Given the description of an element on the screen output the (x, y) to click on. 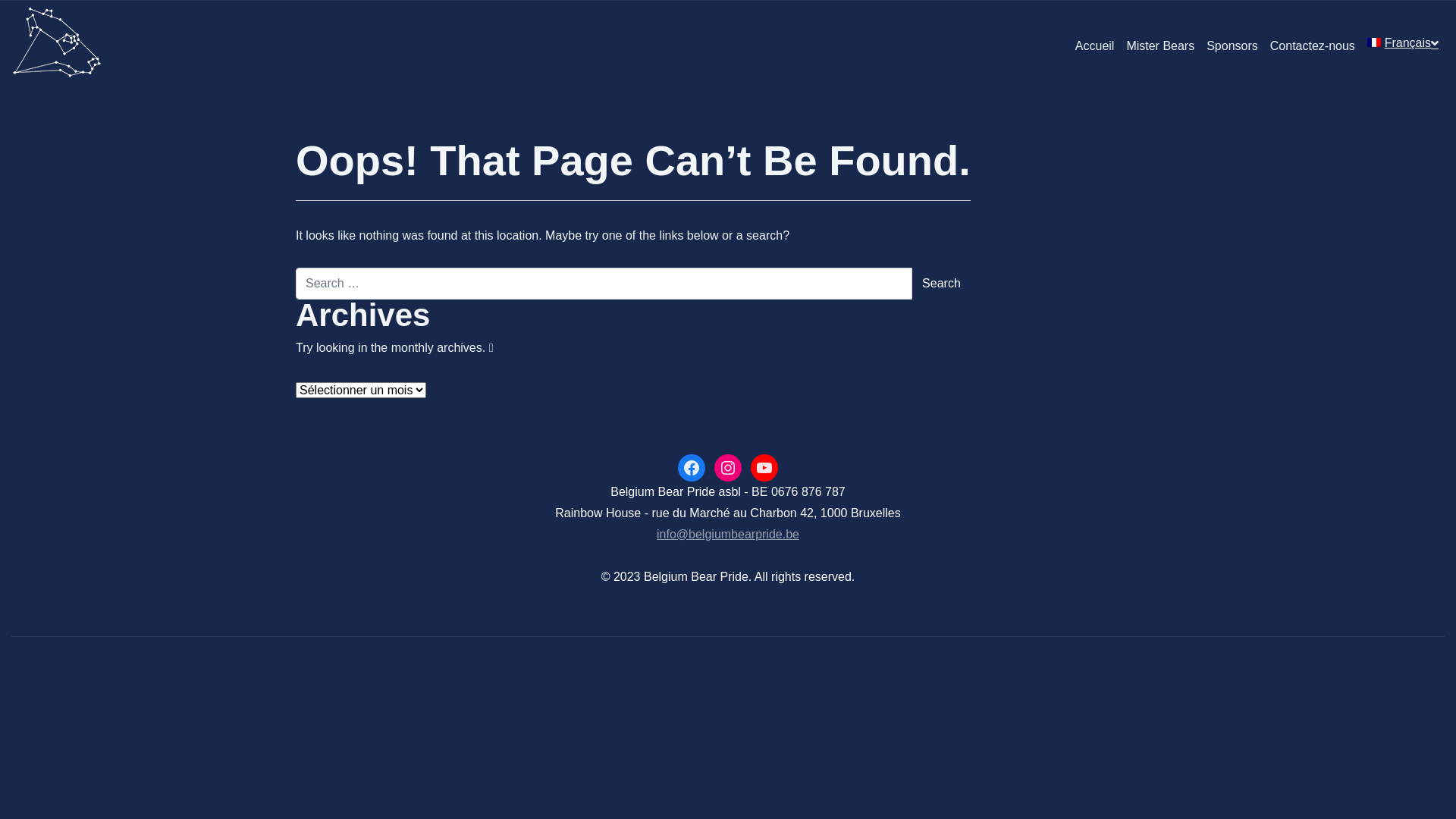
Accueil Element type: text (1094, 45)
YouTube link Element type: text (764, 467)
Search Element type: text (941, 283)
Instagram link Element type: text (727, 467)
Belgium Bear Pride Element type: hover (56, 45)
Contactez-nous Element type: text (1312, 45)
Mister Bears Element type: text (1160, 45)
Facebook Link Element type: text (691, 467)
Sponsors Element type: text (1232, 45)
info@belgiumbearpride.be Element type: text (727, 533)
